Given the description of an element on the screen output the (x, y) to click on. 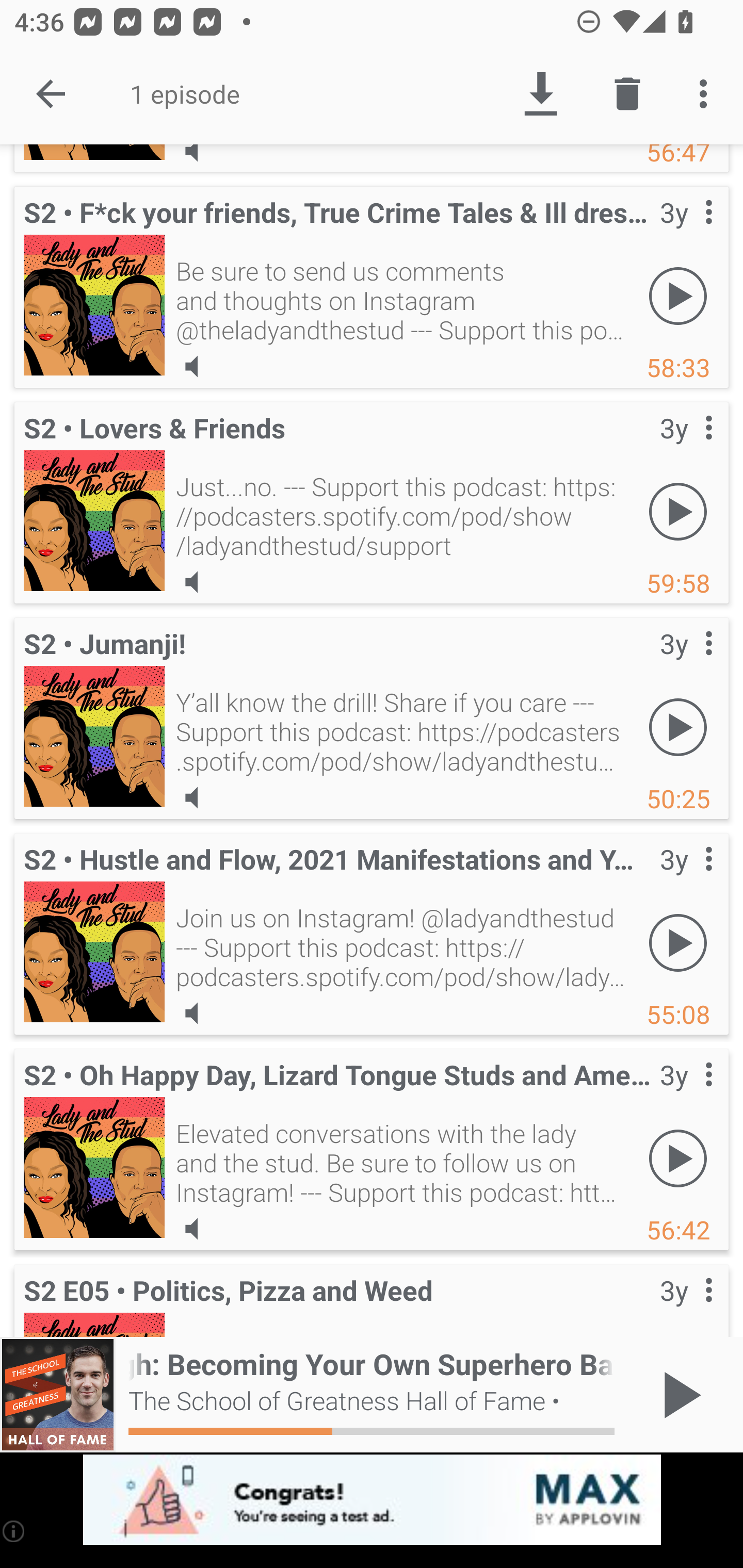
Done (50, 93)
Download (540, 93)
Delete episode (626, 93)
More options (706, 93)
Contextual menu (685, 232)
Play (677, 296)
Contextual menu (685, 448)
Lovers & Friends (93, 520)
Play (677, 511)
Contextual menu (685, 663)
Jumanji! (93, 735)
Play (677, 727)
Contextual menu (685, 879)
Play (677, 943)
Contextual menu (685, 1095)
Play (677, 1158)
Contextual menu (685, 1302)
Play / Pause (677, 1394)
app-monetization (371, 1500)
(i) (14, 1531)
